Given the description of an element on the screen output the (x, y) to click on. 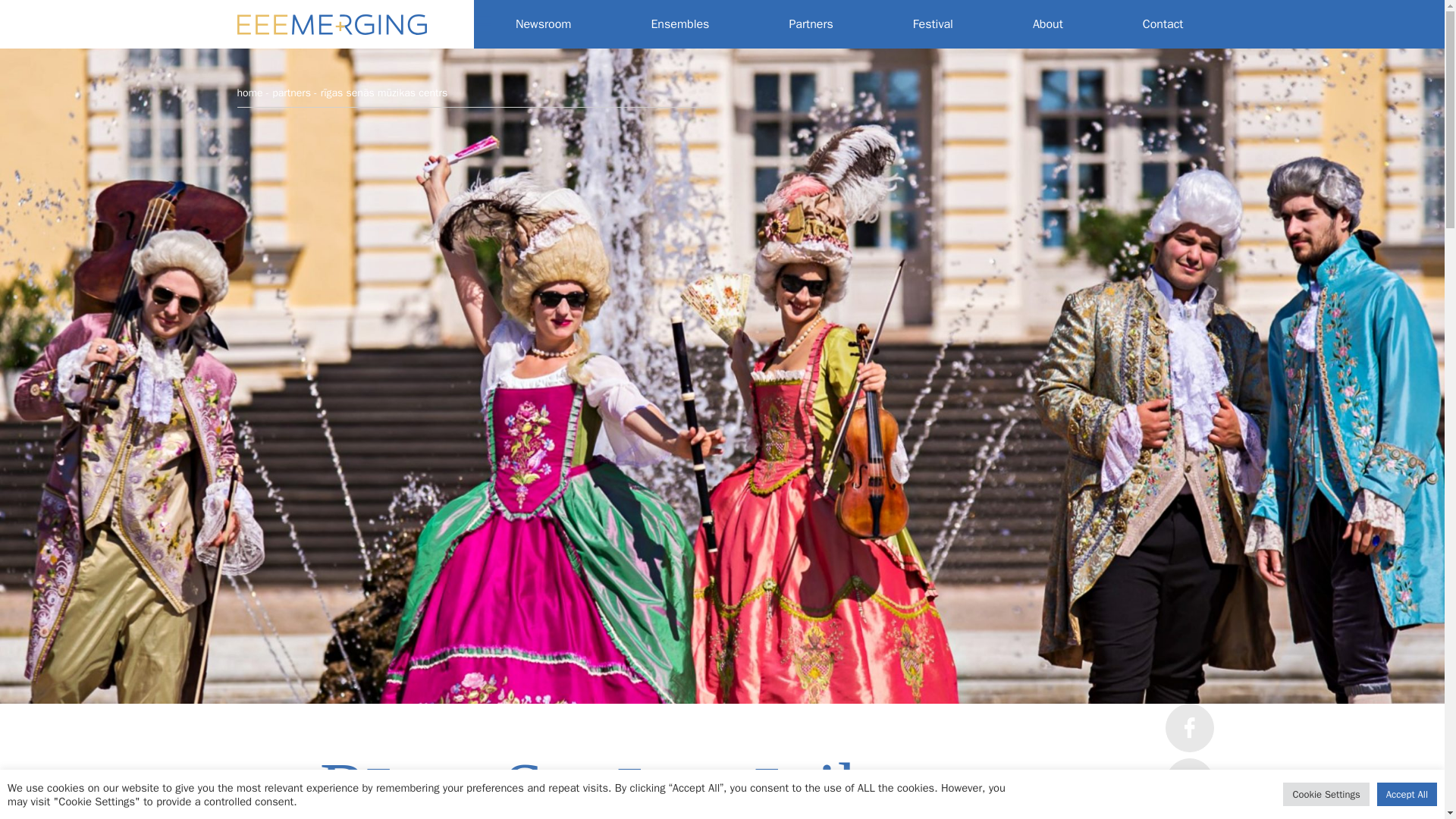
partners (291, 92)
Festival (932, 24)
Cookie Settings (1325, 793)
Newsroom (543, 24)
Accept All (1407, 793)
Partners (810, 24)
mail (1188, 816)
Contact (1162, 24)
twitter (1188, 782)
About (1047, 24)
Ensembles (679, 24)
facebook (1188, 727)
home (248, 92)
